Given the description of an element on the screen output the (x, y) to click on. 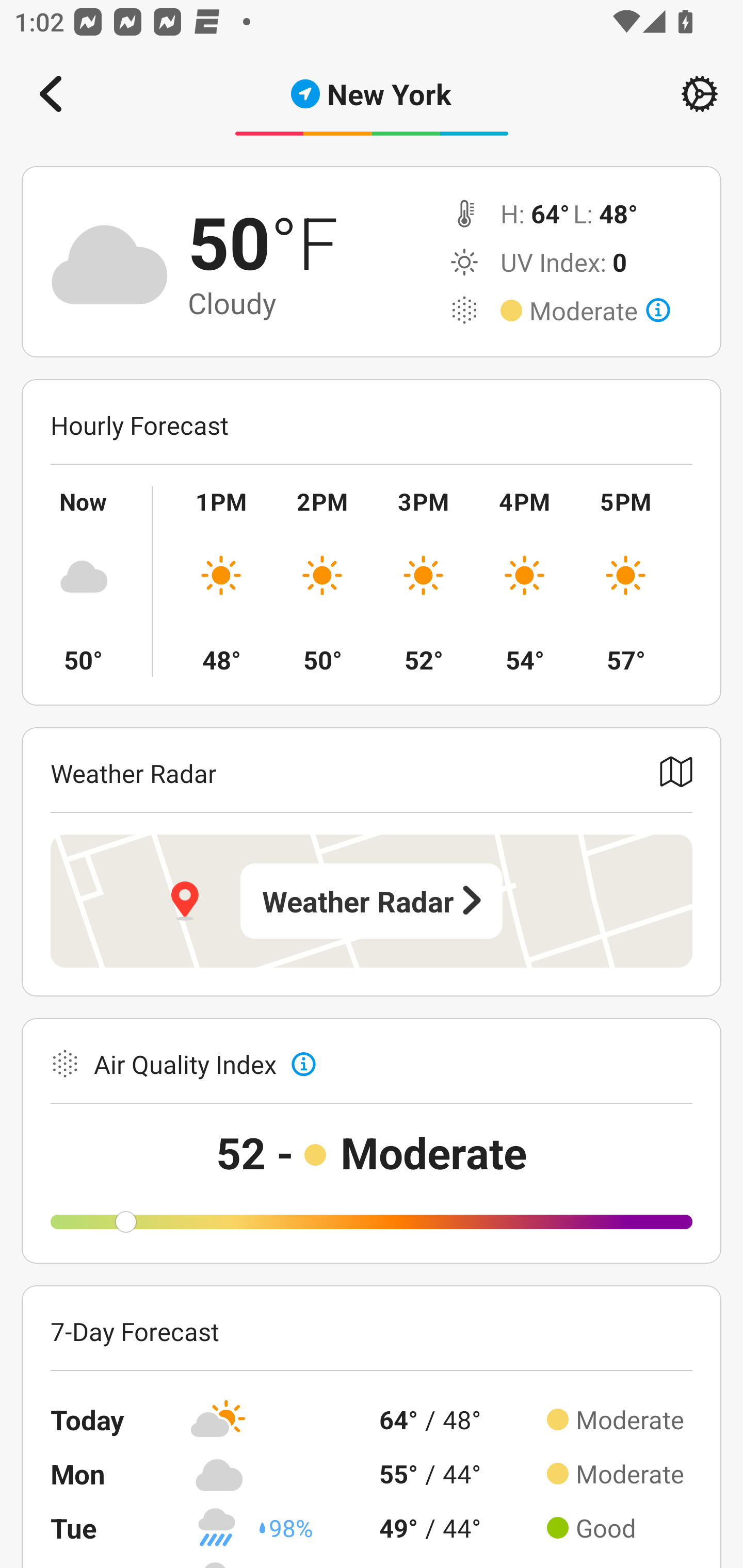
Navigate up (50, 93)
Setting (699, 93)
Moderate (599, 310)
Weather Radar (371, 900)
